Given the description of an element on the screen output the (x, y) to click on. 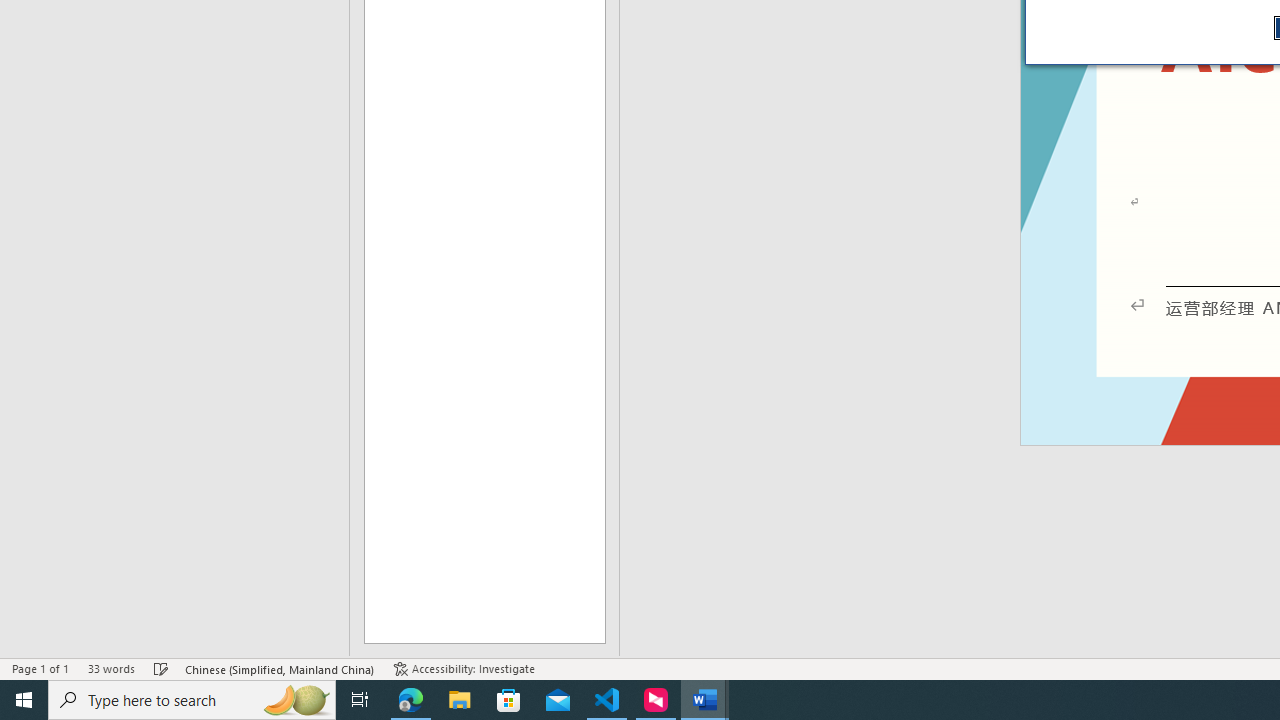
Start (24, 699)
Microsoft Edge - 1 running window (411, 699)
Spelling and Grammar Check Checking (161, 668)
Task View (359, 699)
Accessibility Checker Accessibility: Investigate (464, 668)
Page Number Page 1 of 1 (39, 668)
Word - 2 running windows (704, 699)
Language Chinese (Simplified, Mainland China) (279, 668)
Search highlights icon opens search home window (295, 699)
Microsoft Store (509, 699)
File Explorer (460, 699)
Type here to search (191, 699)
Visual Studio Code - 1 running window (607, 699)
